Given the description of an element on the screen output the (x, y) to click on. 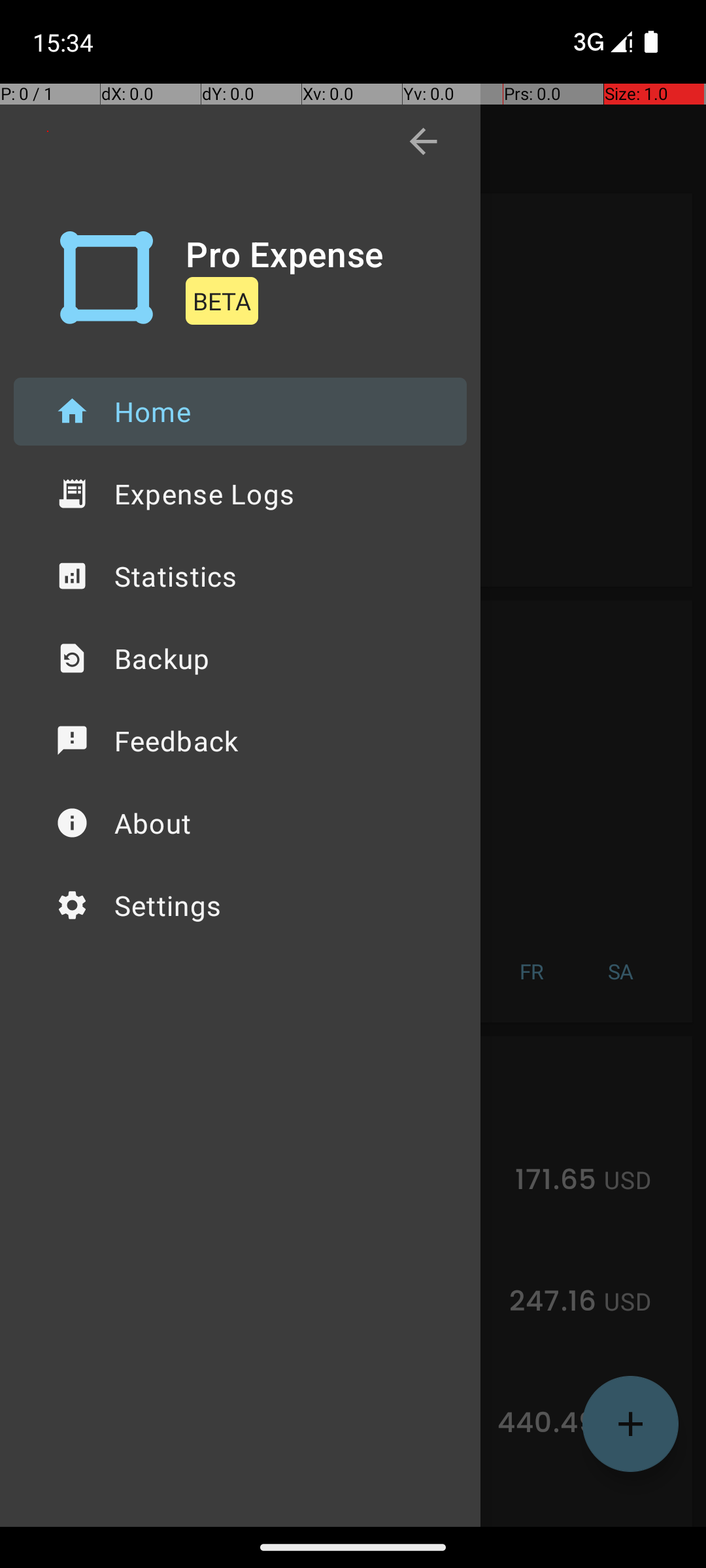
Pro Expense Element type: android.widget.TextView (284, 253)
BETA Element type: android.widget.TextView (221, 300)
Expense Logs Element type: android.widget.CheckedTextView (239, 493)
Statistics Element type: android.widget.CheckedTextView (239, 576)
Backup Element type: android.widget.CheckedTextView (239, 658)
Feedback Element type: android.widget.CheckedTextView (239, 740)
About Element type: android.widget.CheckedTextView (239, 823)
